Given the description of an element on the screen output the (x, y) to click on. 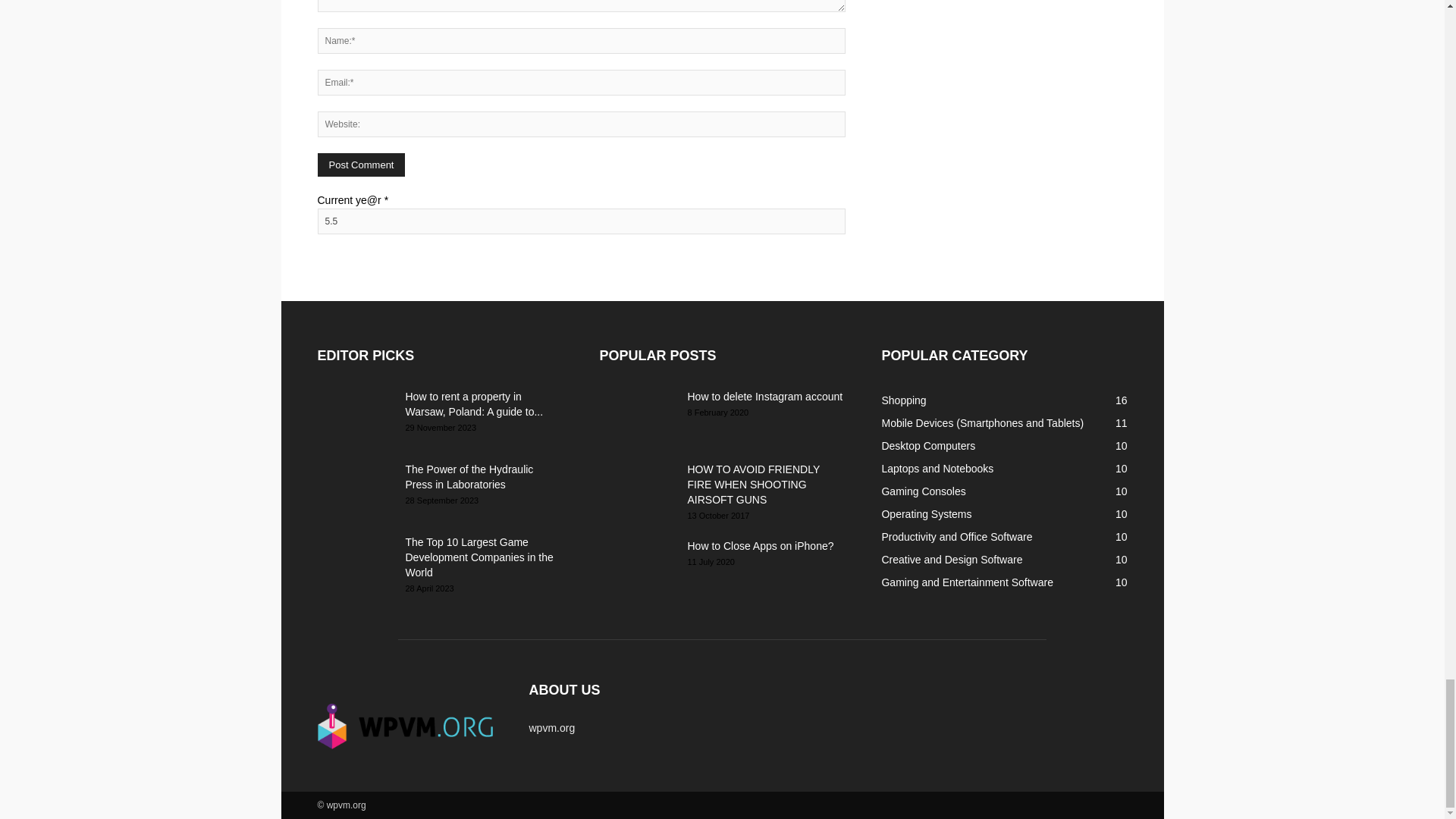
Post Comment (360, 164)
5.5 (580, 221)
